Given the description of an element on the screen output the (x, y) to click on. 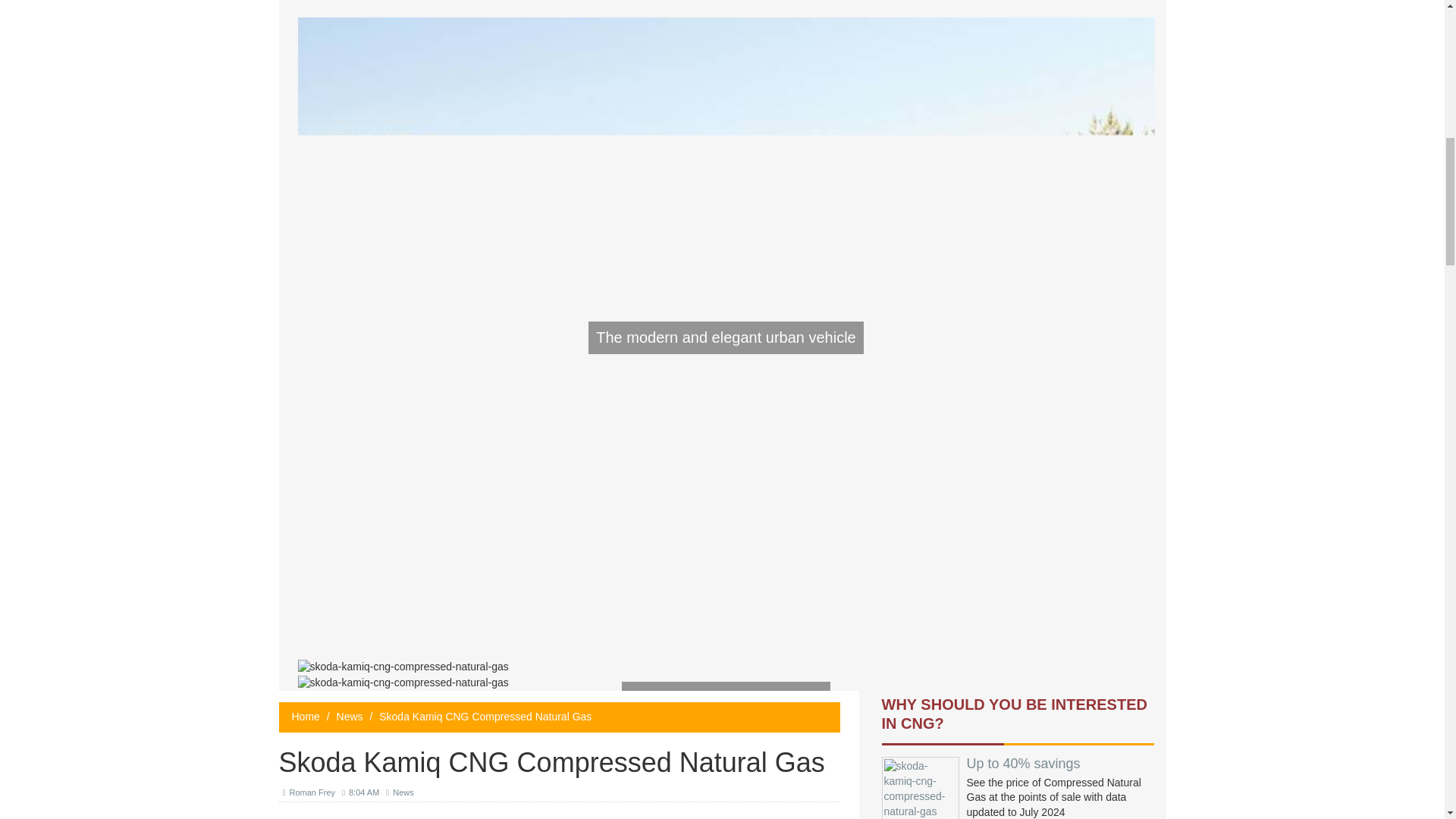
With CNG ecological version (725, 697)
The modern and elegant urban vehicle (725, 337)
News (349, 716)
And an advanced technology system (725, 713)
Home (304, 716)
